Given the description of an element on the screen output the (x, y) to click on. 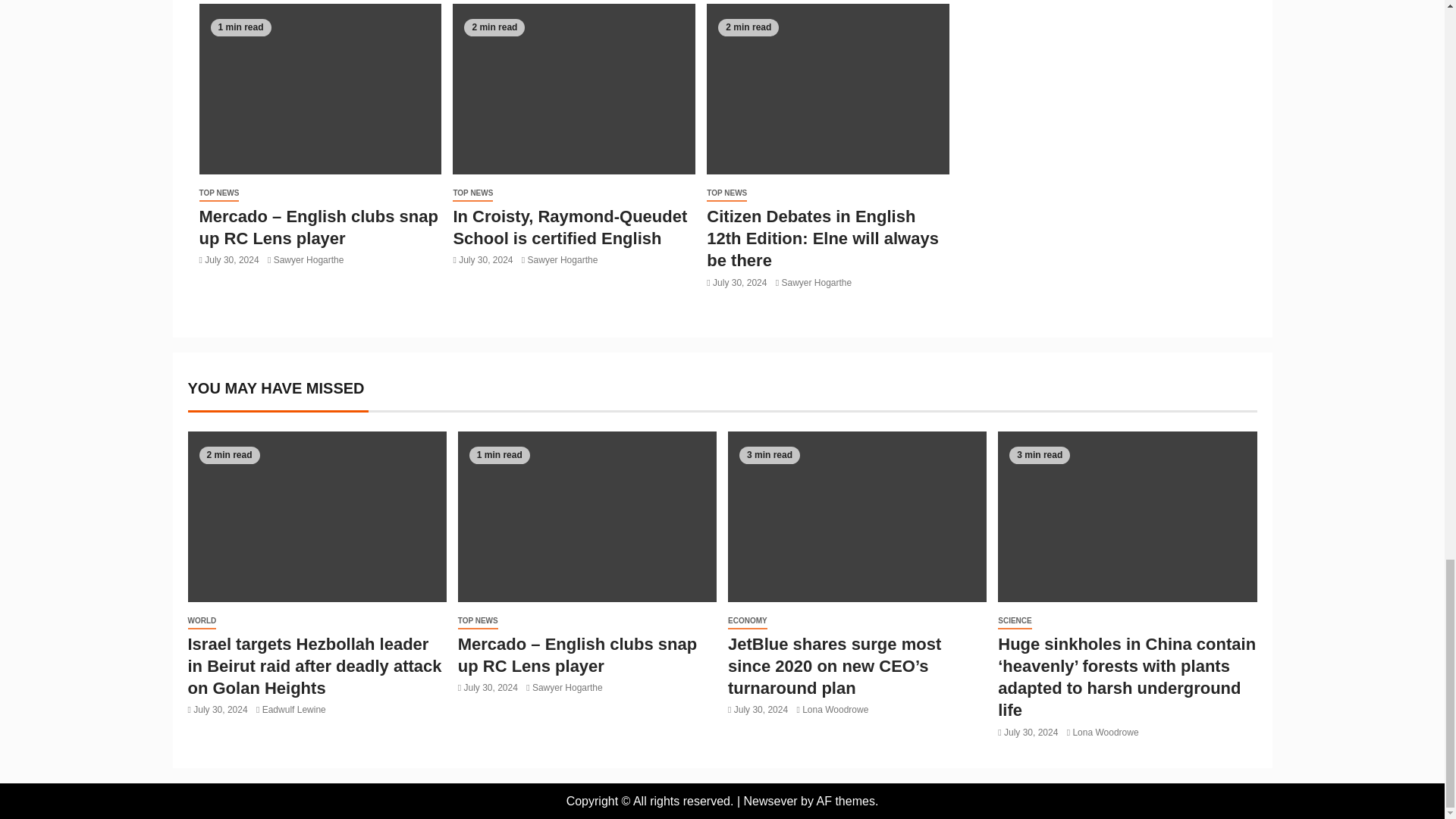
TOP NEWS (472, 193)
TOP NEWS (726, 193)
Sawyer Hogarthe (308, 259)
In Croisty, Raymond-Queudet School is certified English (569, 227)
TOP NEWS (218, 193)
Sawyer Hogarthe (562, 259)
